Given the description of an element on the screen output the (x, y) to click on. 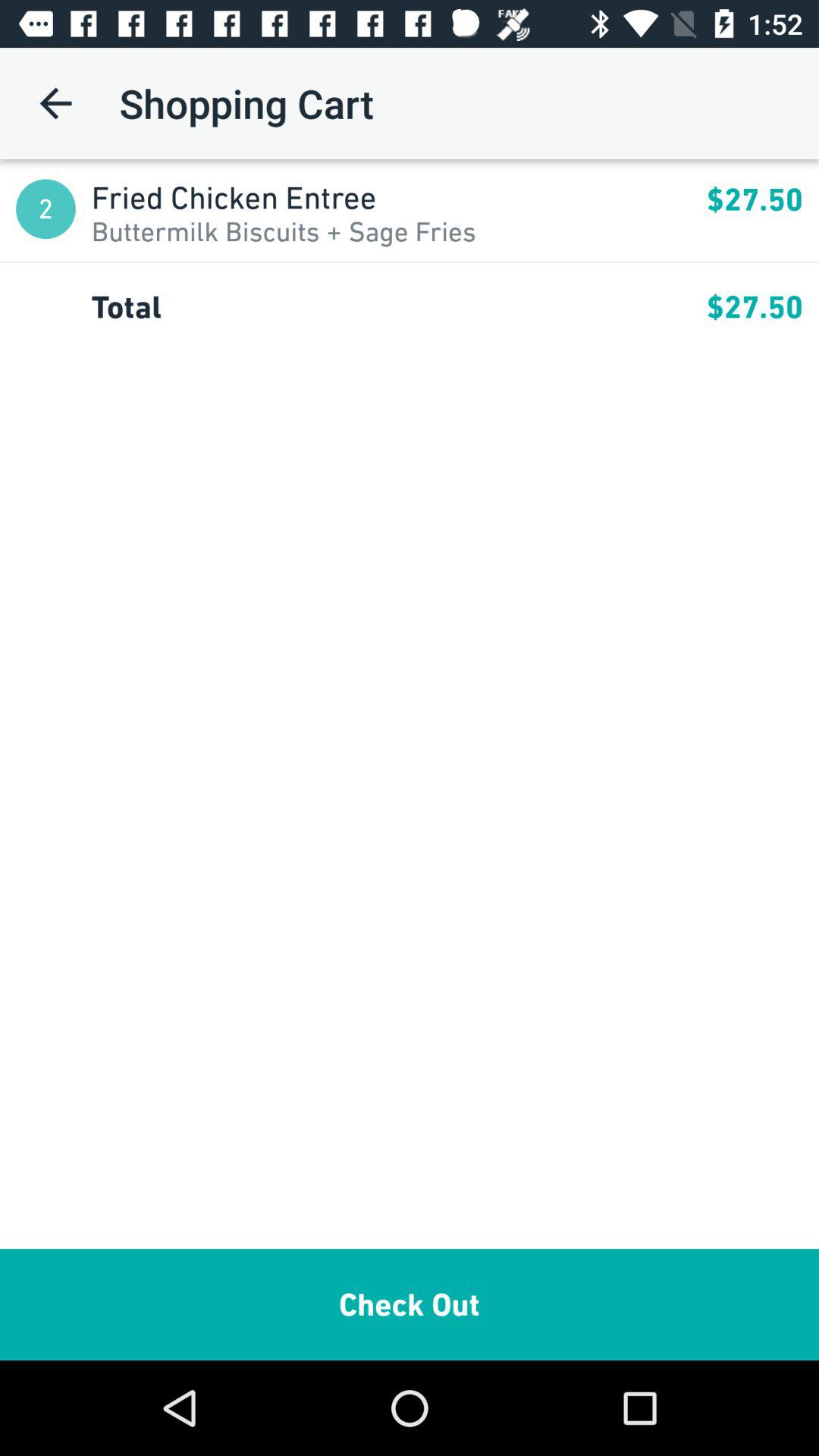
launch app above the buttermilk biscuits sage icon (398, 197)
